Given the description of an element on the screen output the (x, y) to click on. 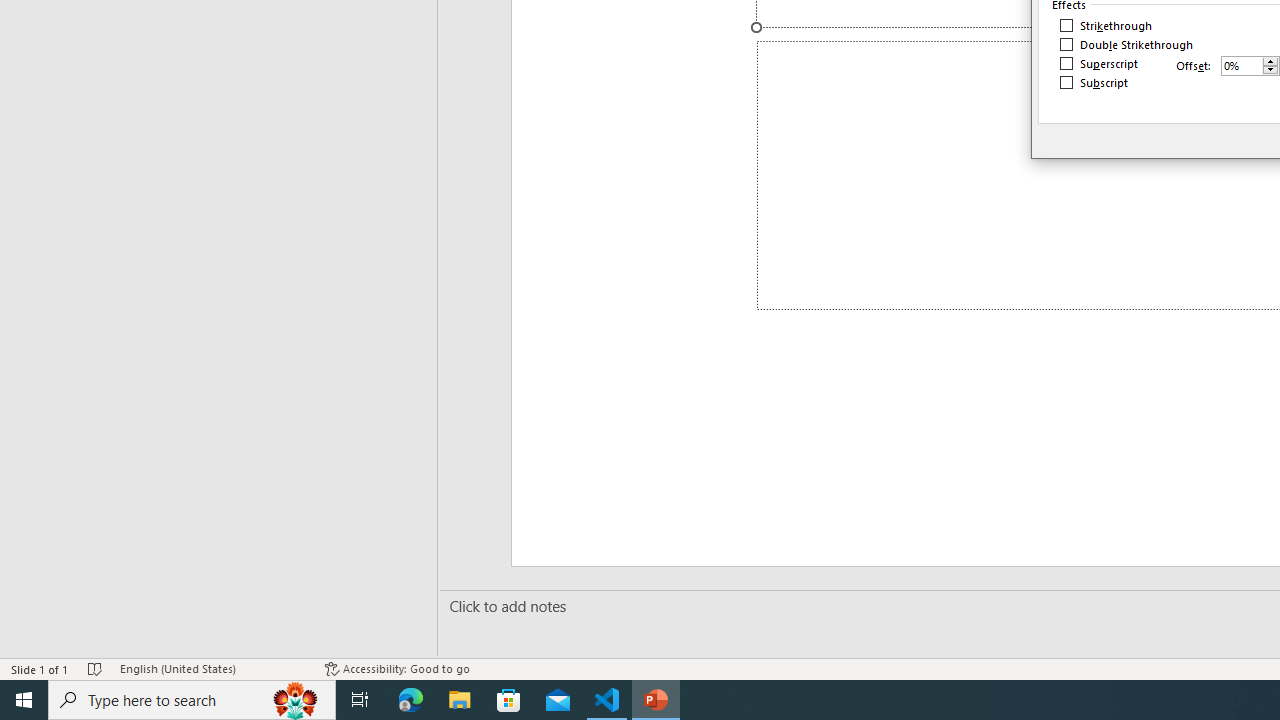
Offset (1242, 65)
Offset (1250, 66)
